Given the description of an element on the screen output the (x, y) to click on. 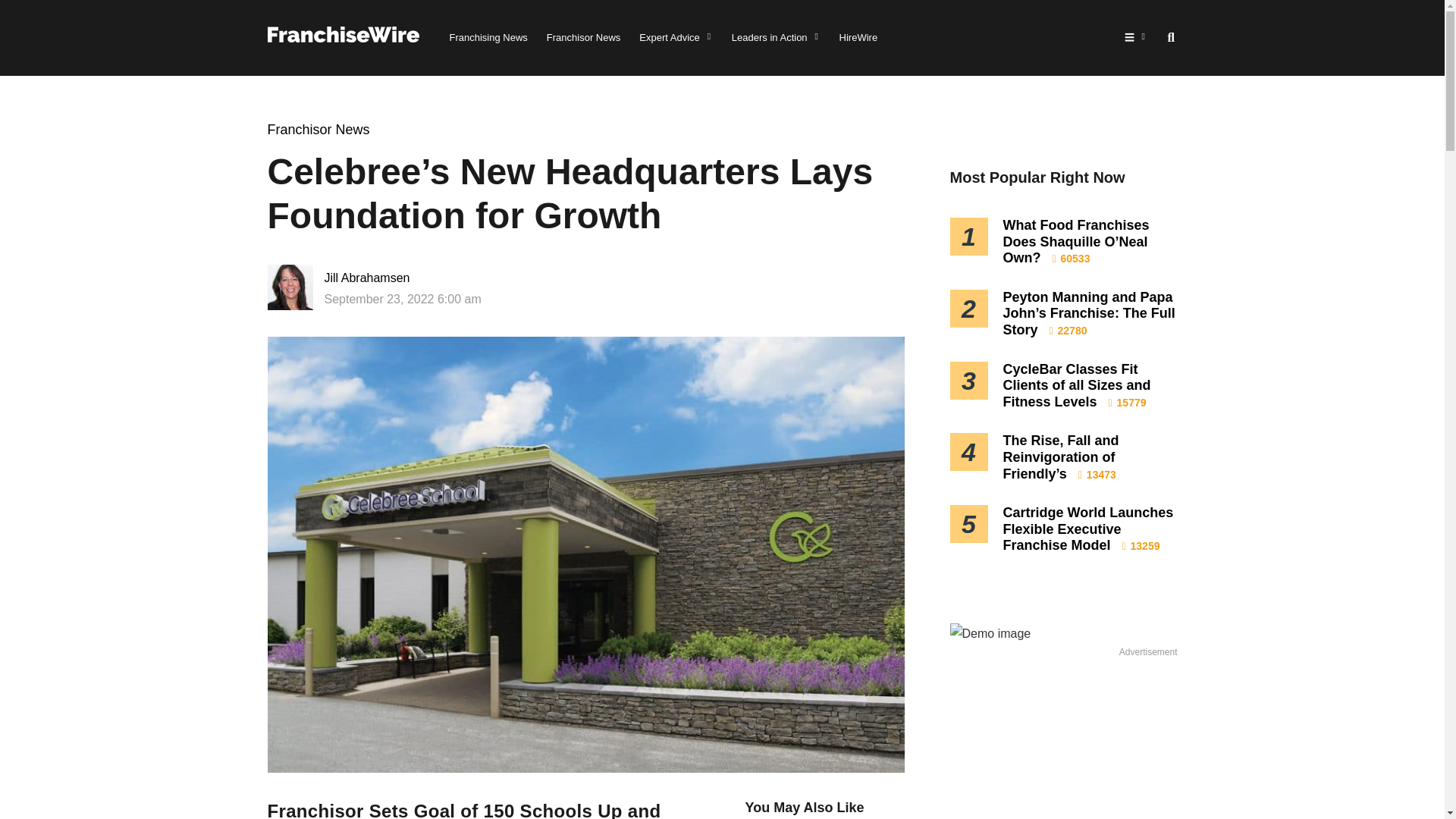
View all posts by Jill Abrahamsen (422, 278)
Franchising News (487, 38)
Expert Advice (676, 38)
Views (1127, 402)
Franchisor News (584, 38)
Jill Abrahamsen (422, 278)
Views (1071, 258)
Leaders in Action (776, 38)
Franchisor News (317, 129)
Views (1068, 330)
